Given the description of an element on the screen output the (x, y) to click on. 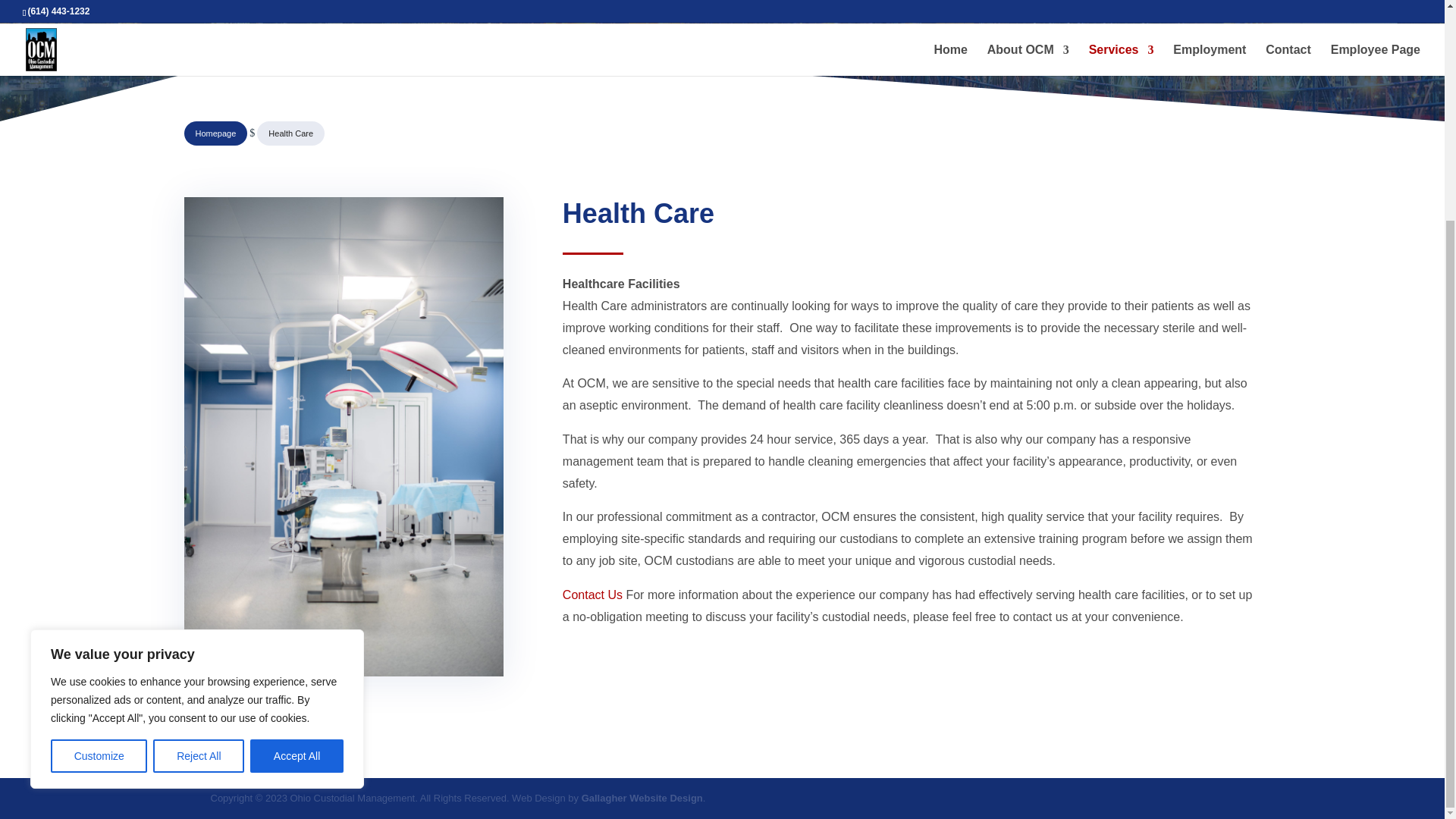
Accept All (296, 463)
Reject All (198, 463)
Customize (98, 463)
